Given the description of an element on the screen output the (x, y) to click on. 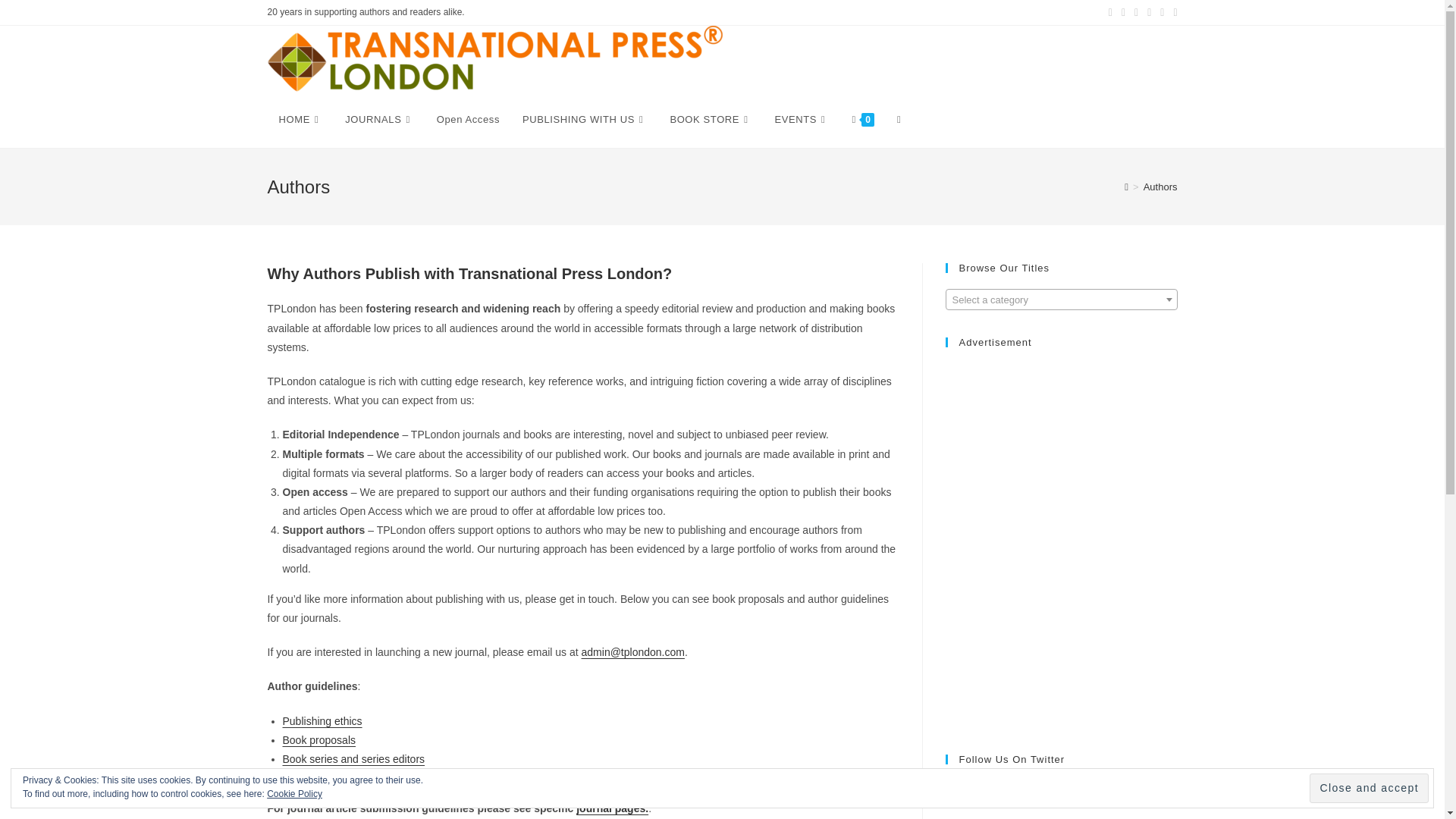
JOURNALS (379, 119)
Close and accept (1368, 788)
HOME (299, 119)
Advertisement (1047, 633)
PUBLISHING WITH US (584, 119)
BOOK STORE (710, 119)
Open Access (468, 119)
